Given the description of an element on the screen output the (x, y) to click on. 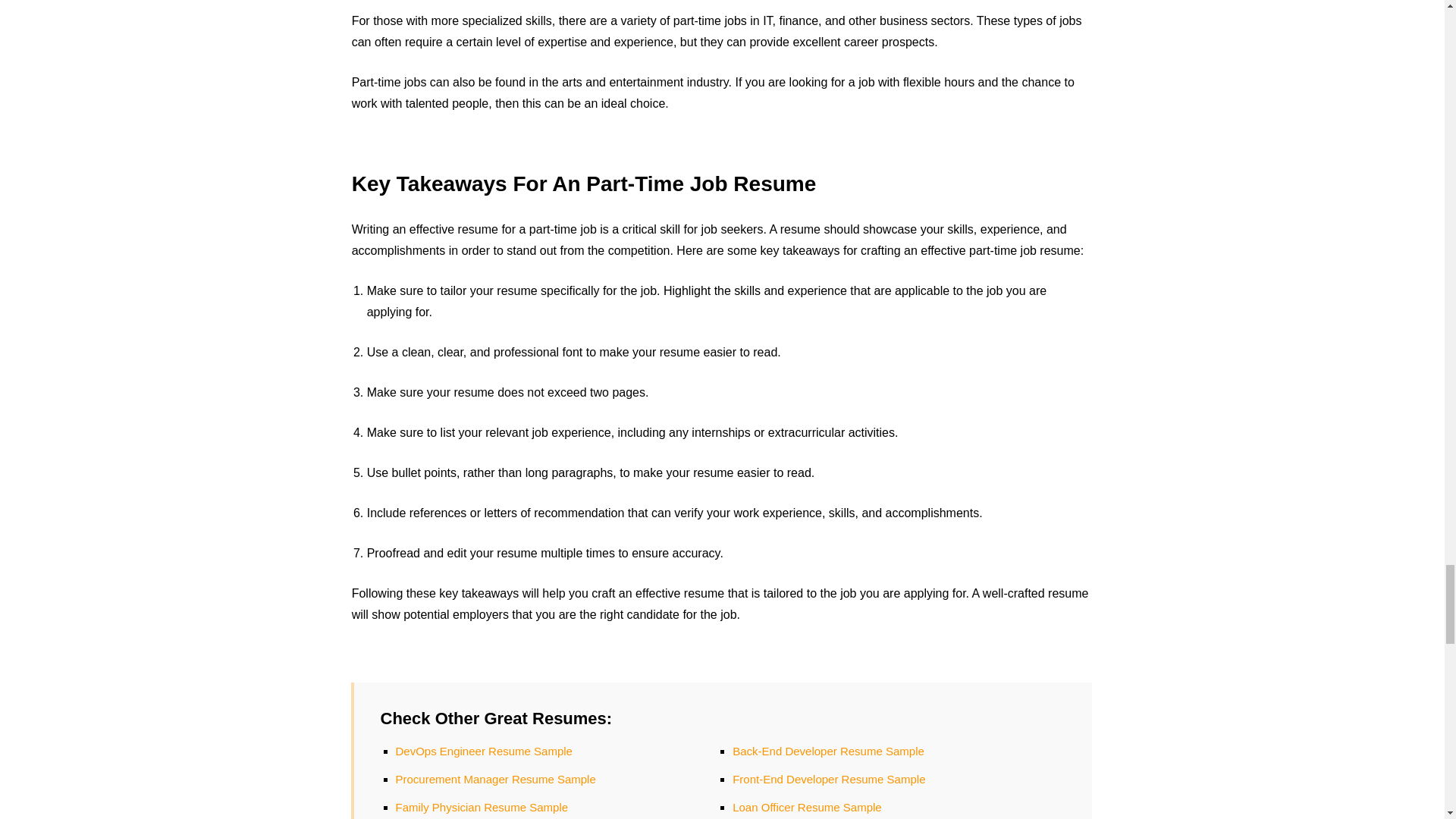
Back-End Developer Resume Sample (828, 750)
Procurement Manager Resume Sample (495, 779)
Front-End Developer Resume Sample (828, 779)
Family Physician Resume Sample (482, 807)
DevOps Engineer Resume Sample (484, 750)
